Given the description of an element on the screen output the (x, y) to click on. 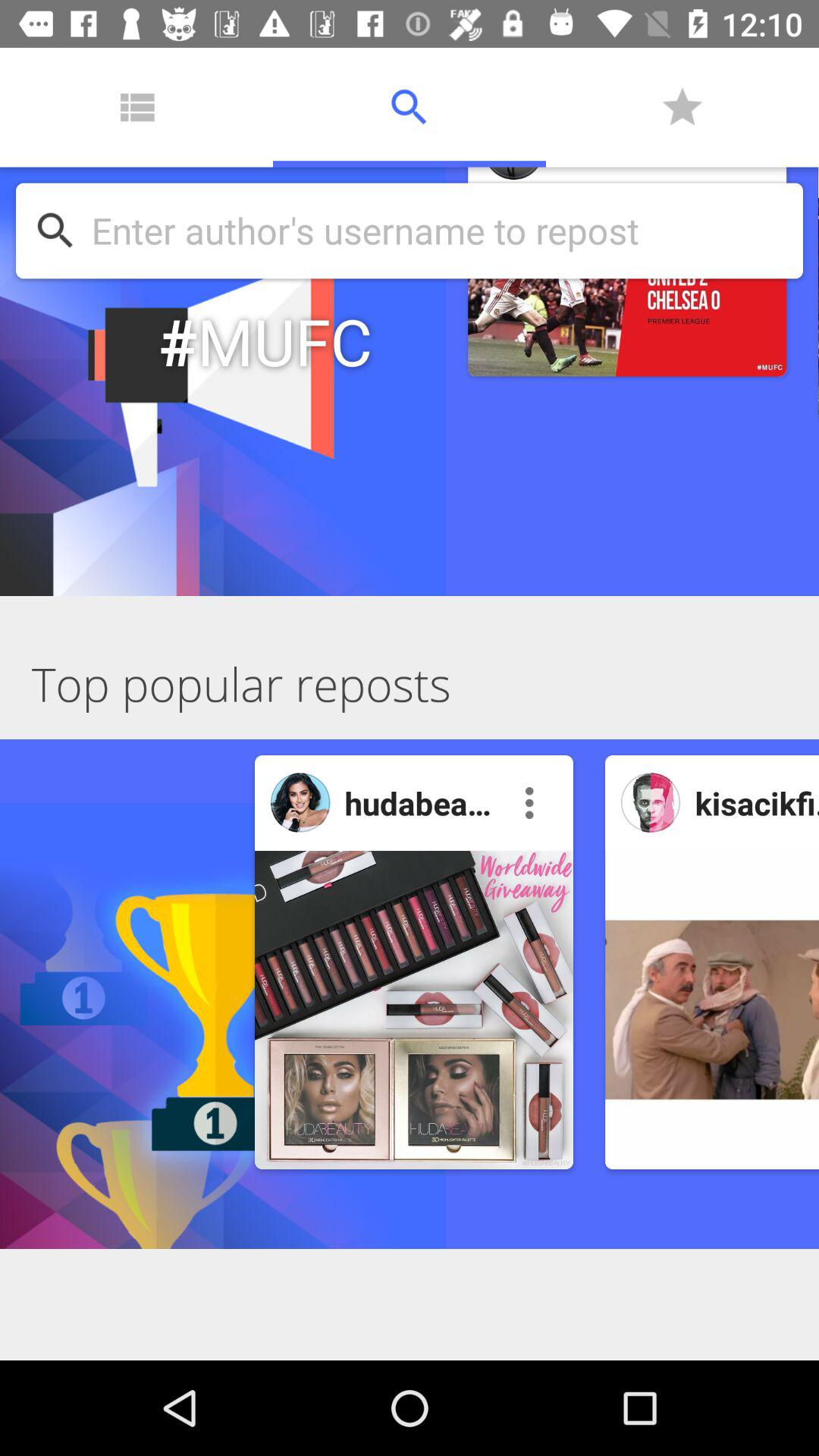
search bar (439, 230)
